Given the description of an element on the screen output the (x, y) to click on. 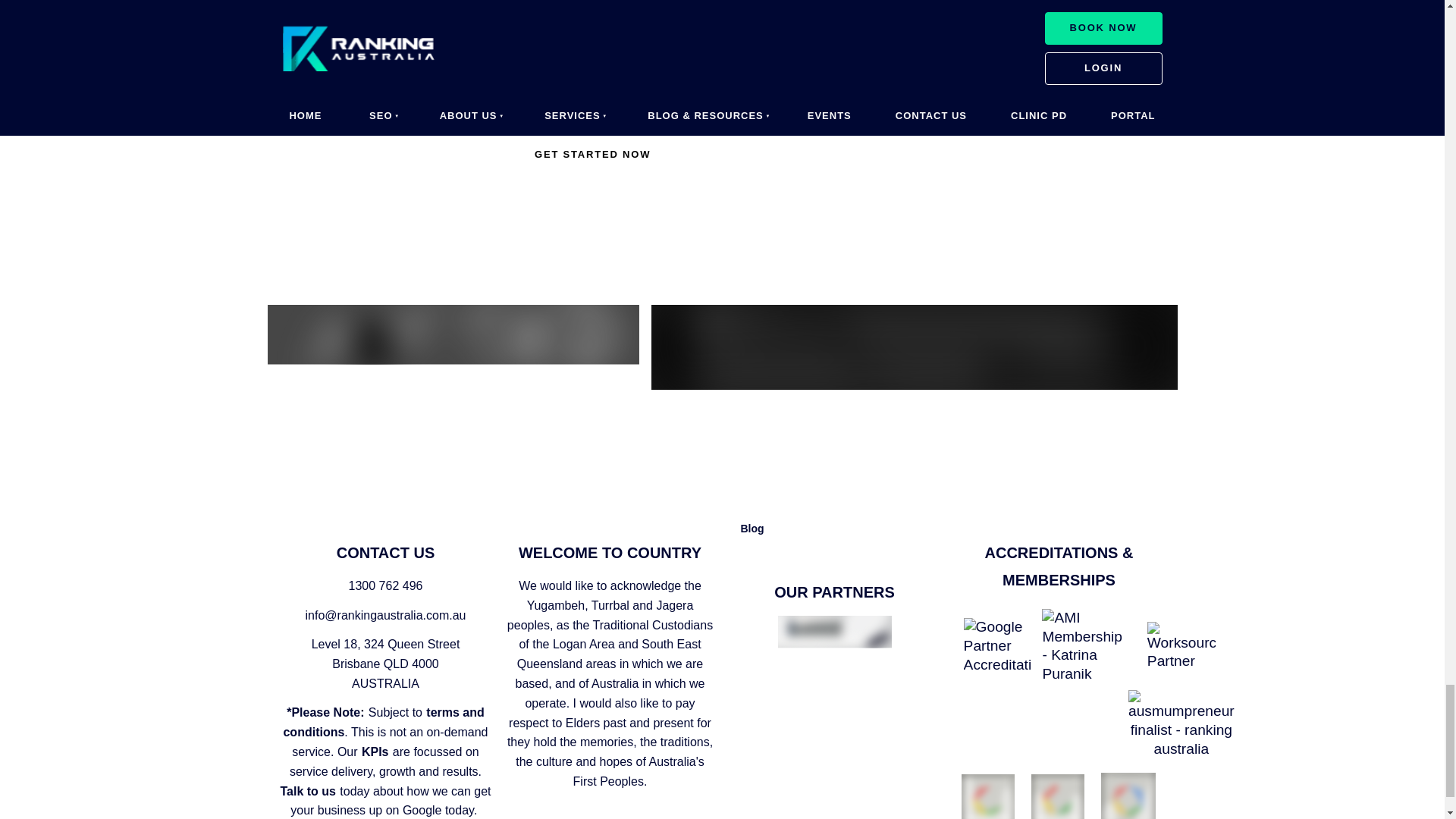
Check out Oncord - Your Wesbite Marketing Platform (452, 334)
Contact Ranking Australia (904, 154)
Accept our terms and get started (592, 154)
Oncord - Website Marketing Platform (913, 346)
